Given the description of an element on the screen output the (x, y) to click on. 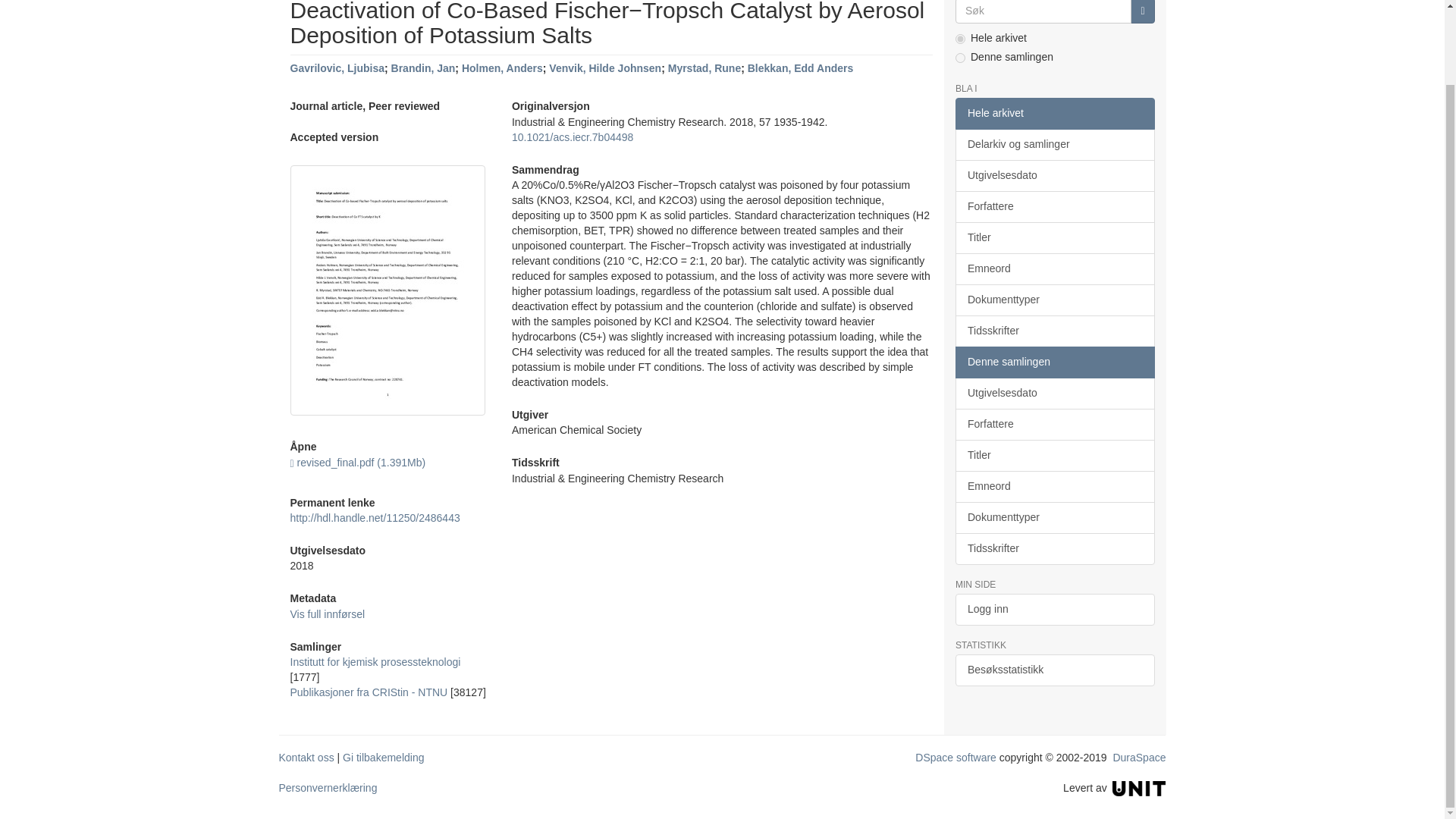
Hele arkivet (1054, 113)
Publikasjoner fra CRIStin - NTNU (367, 692)
Myrstad, Rune (704, 68)
Unit (1139, 787)
Holmen, Anders (502, 68)
Institutt for kjemisk prosessteknologi (374, 662)
Venvik, Hilde Johnsen (604, 68)
Gavrilovic, Ljubisa (336, 68)
Blekkan, Edd Anders (800, 68)
Brandin, Jan (423, 68)
